Given the description of an element on the screen output the (x, y) to click on. 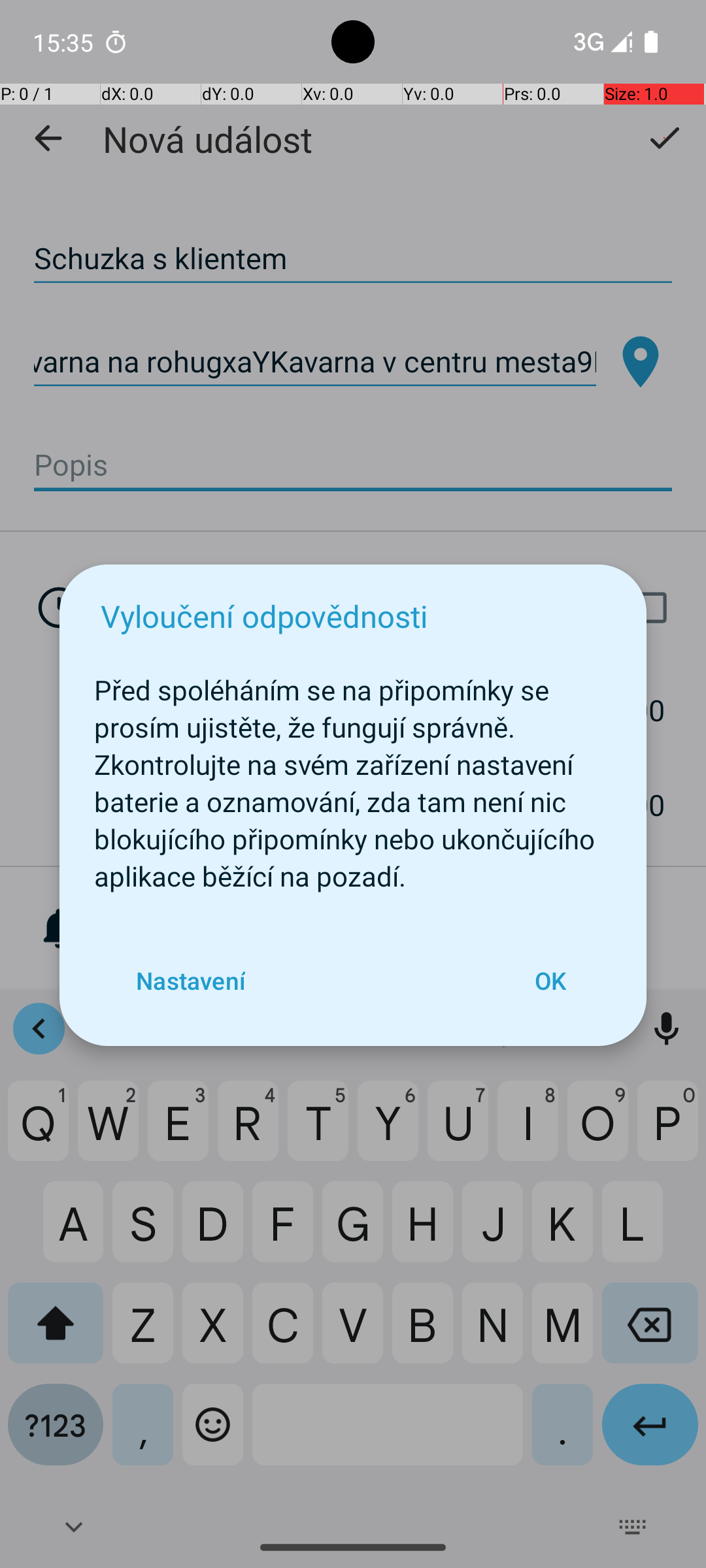
Vyloučení odpovědnosti Element type: android.widget.TextView (264, 615)
Před spoléháním se na připomínky se prosím ujistěte, že fungují správně. Zkontrolujte na svém zařízení nastavení baterie a oznamování, zda tam není nic blokujícího připomínky nebo ukončujícího aplikace běžící na pozadí. Element type: android.widget.TextView (352, 775)
